Given the description of an element on the screen output the (x, y) to click on. 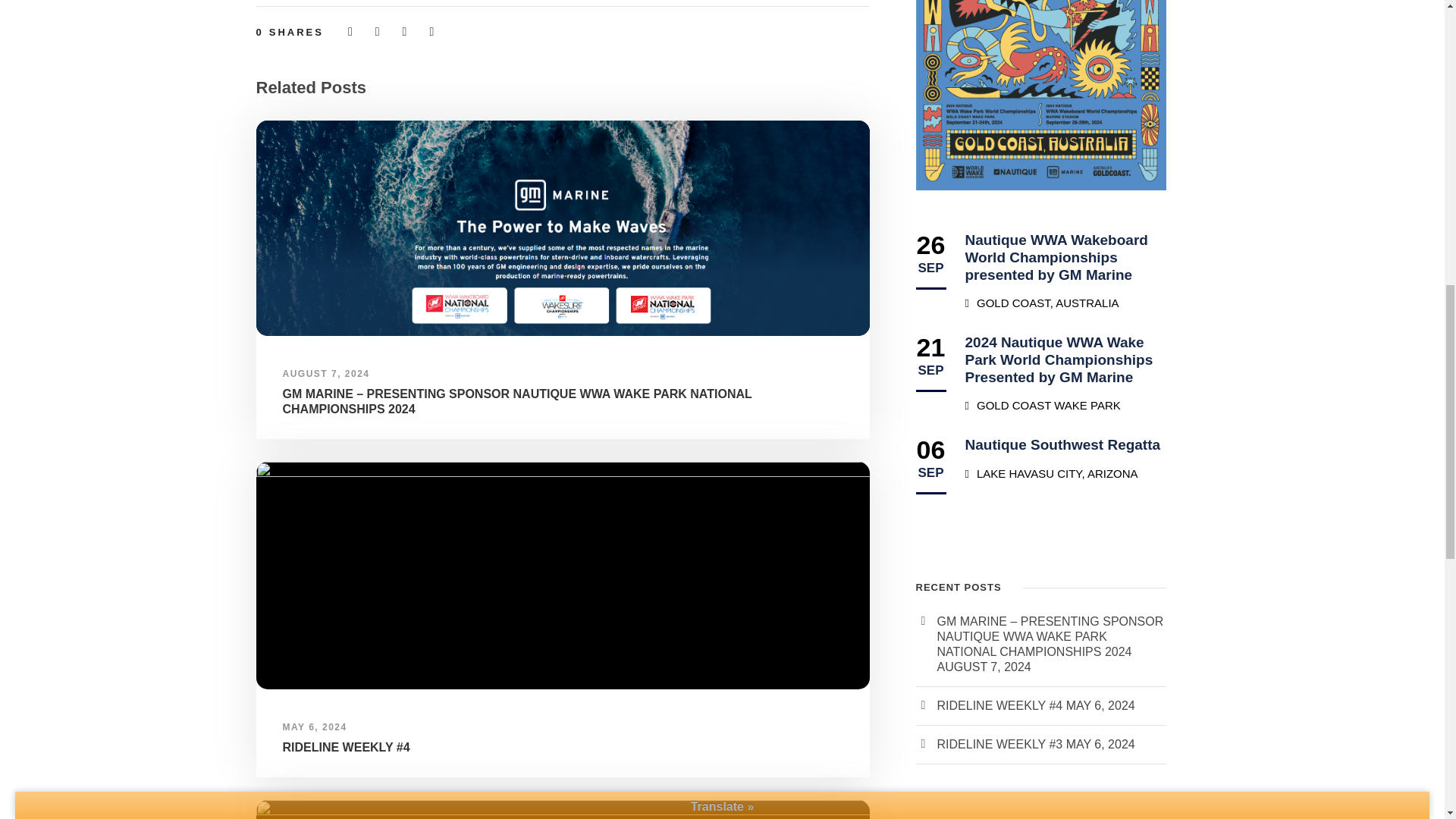
Rideline Weekly Template-3 (563, 809)
Screenshot 2024-08-07 155355 (563, 227)
